Given the description of an element on the screen output the (x, y) to click on. 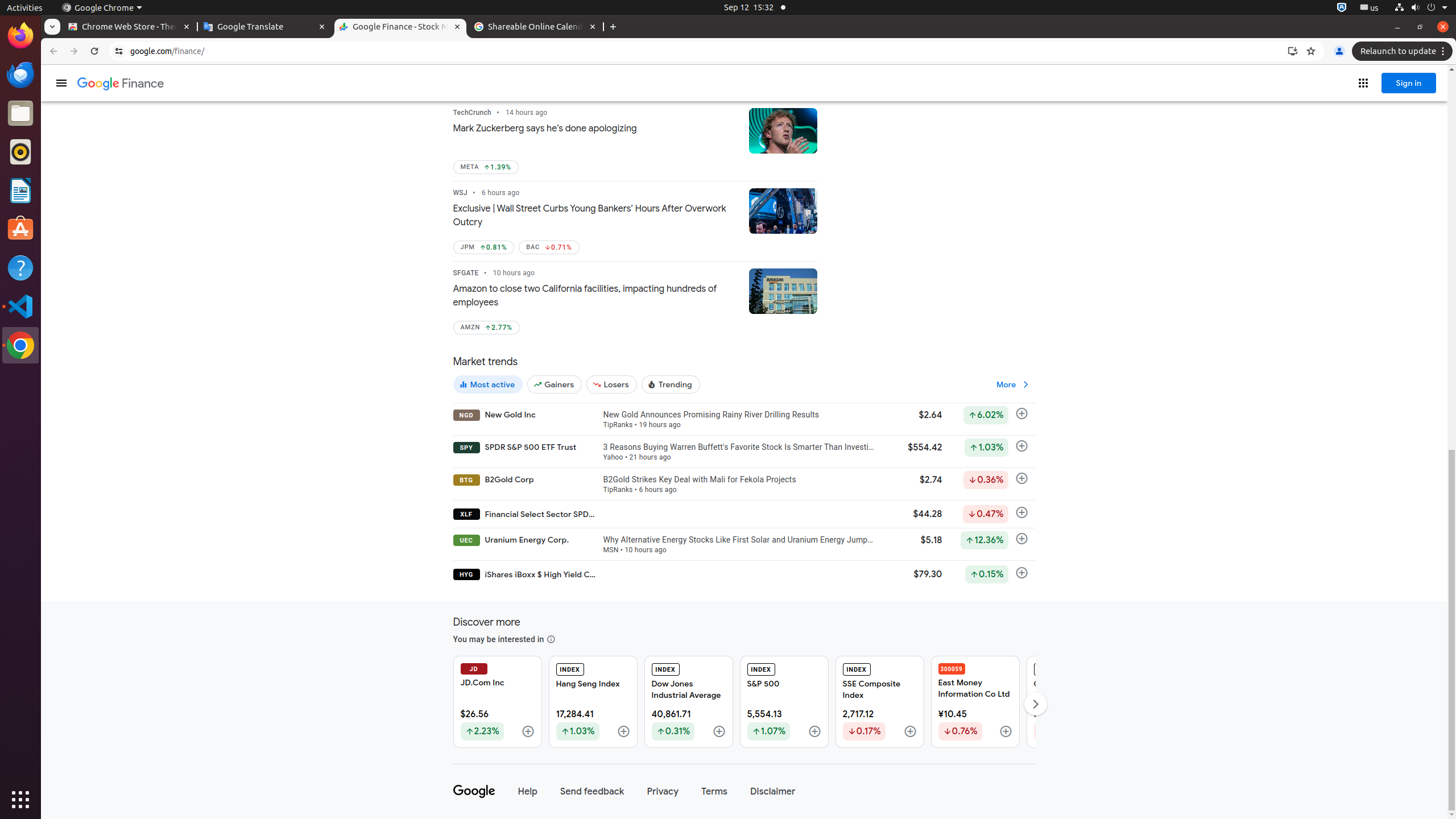
Gainers Element type: page-tab (554, 384)
Rhythmbox Element type: push-button (20, 151)
Why Alternative Energy Stocks Like First Solar and Uranium Energy Jumped on Wednesday MSN • 10 hours ago Element type: link (739, 544)
Back Element type: push-button (51, 50)
XLF Financial Select Sector SPDR Fund $44.28 Down by 0.47% Follow Element type: link (743, 513)
